Given the description of an element on the screen output the (x, y) to click on. 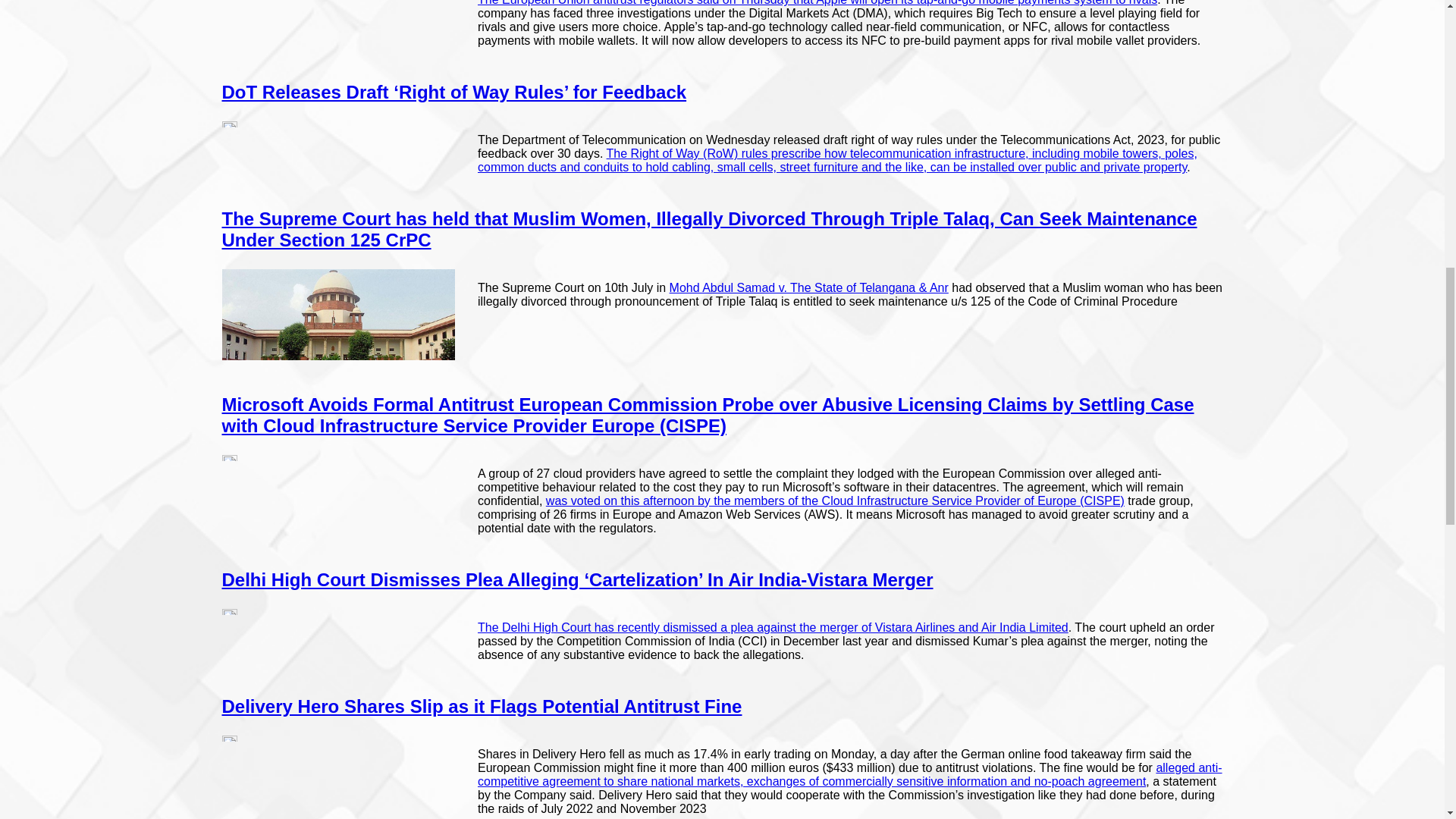
DOT-1 (228, 124)
